Given the description of an element on the screen output the (x, y) to click on. 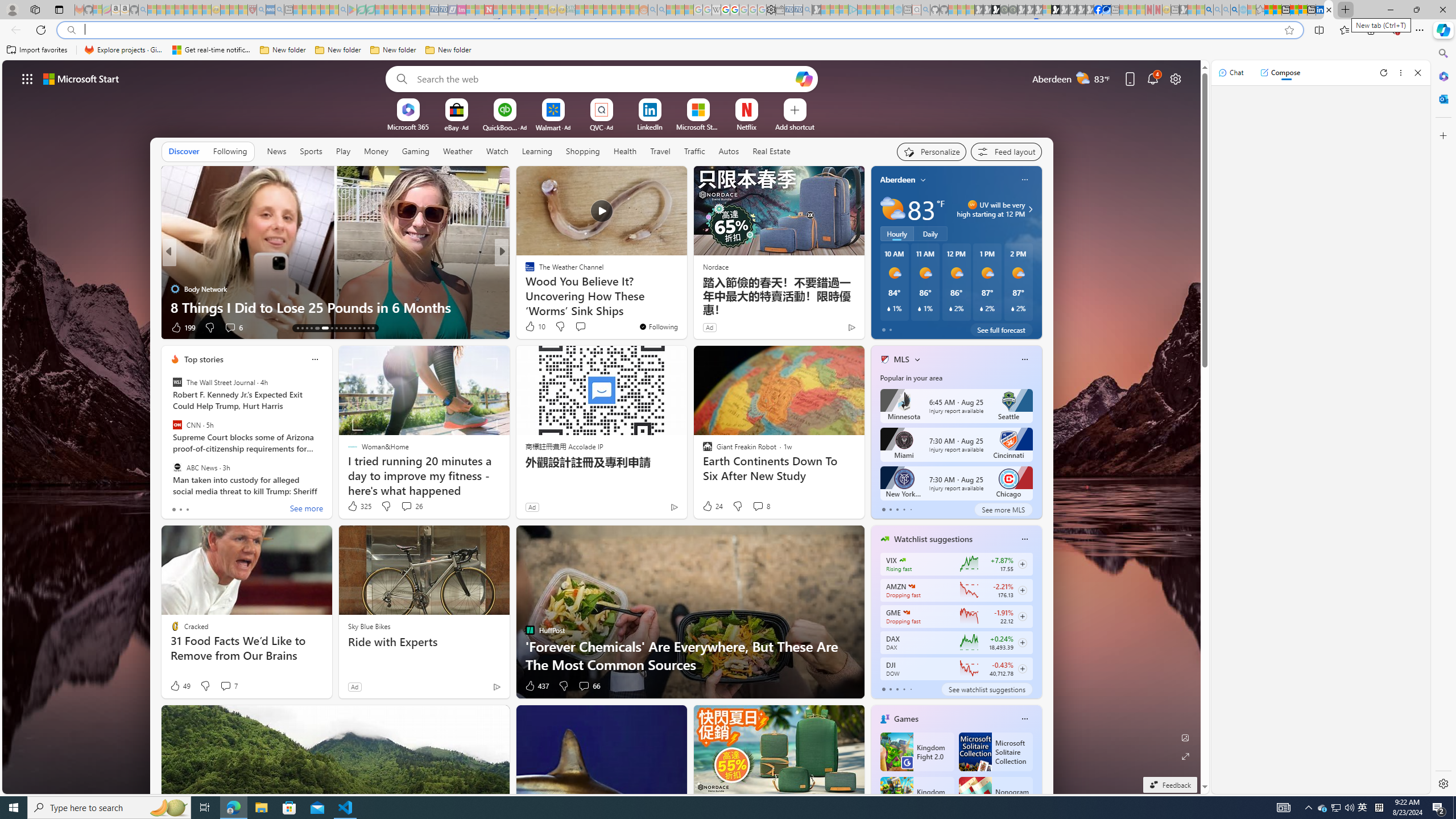
View comments 543 Comment (576, 327)
Microsoft start (81, 78)
GAMESTOP CORP. (906, 612)
AutomationID: tab-23 (349, 328)
152 Like (532, 327)
Page settings (1175, 78)
15 Times Snakes Messed With The Wrong Opponent (684, 307)
2 Like (529, 327)
View comments 18 Comment (585, 327)
